Given the description of an element on the screen output the (x, y) to click on. 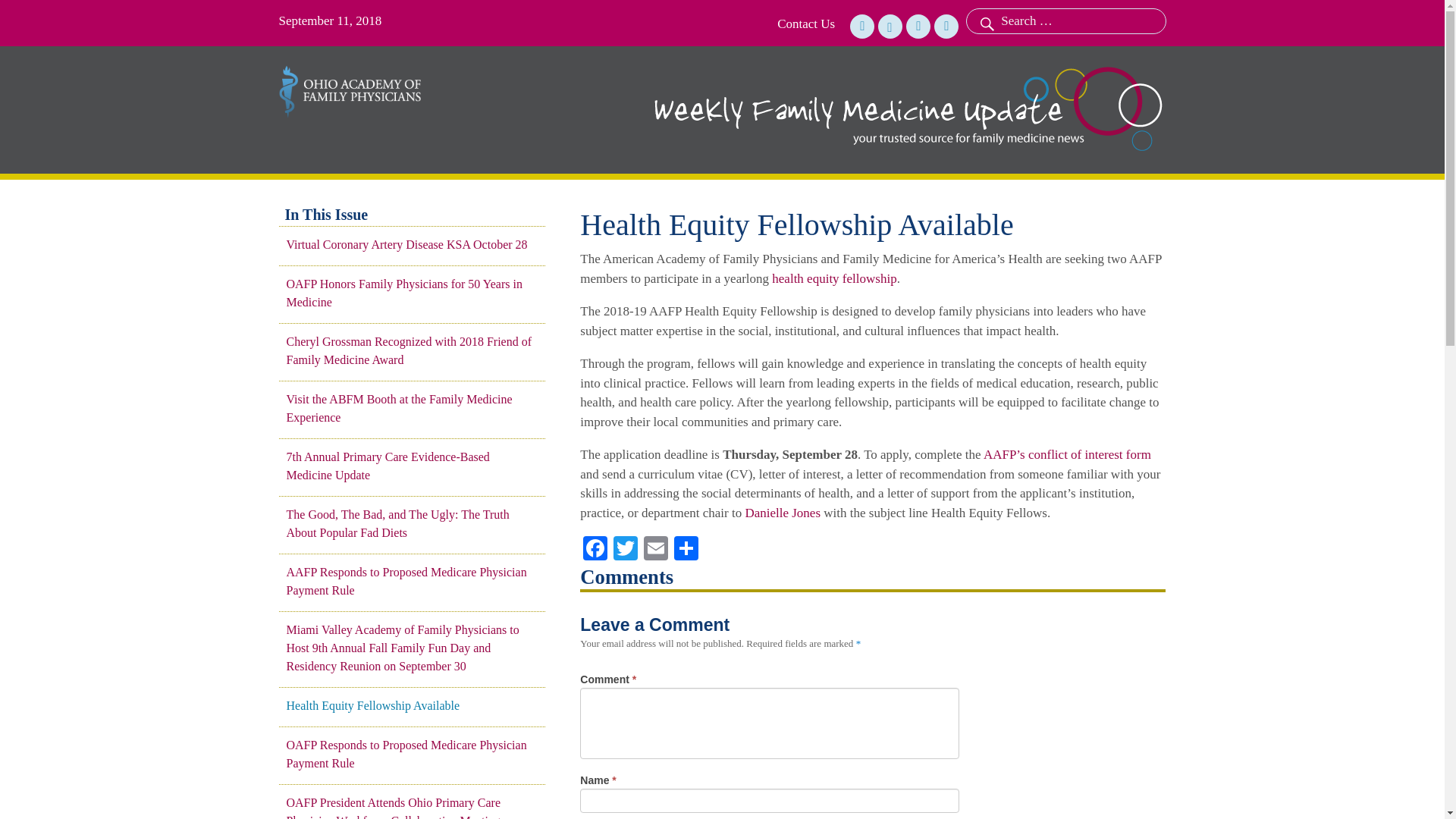
Facebook (594, 550)
Twitter (625, 550)
Visit the ABFM Booth at the Family Medicine Experience (411, 408)
Health Equity Fellowship Available (411, 705)
SEARCH (985, 21)
Virtual Coronary Artery Disease KSA October 28 (411, 244)
Email (655, 550)
OAFP Responds to Proposed Medicare Physician Payment Rule (411, 754)
